Given the description of an element on the screen output the (x, y) to click on. 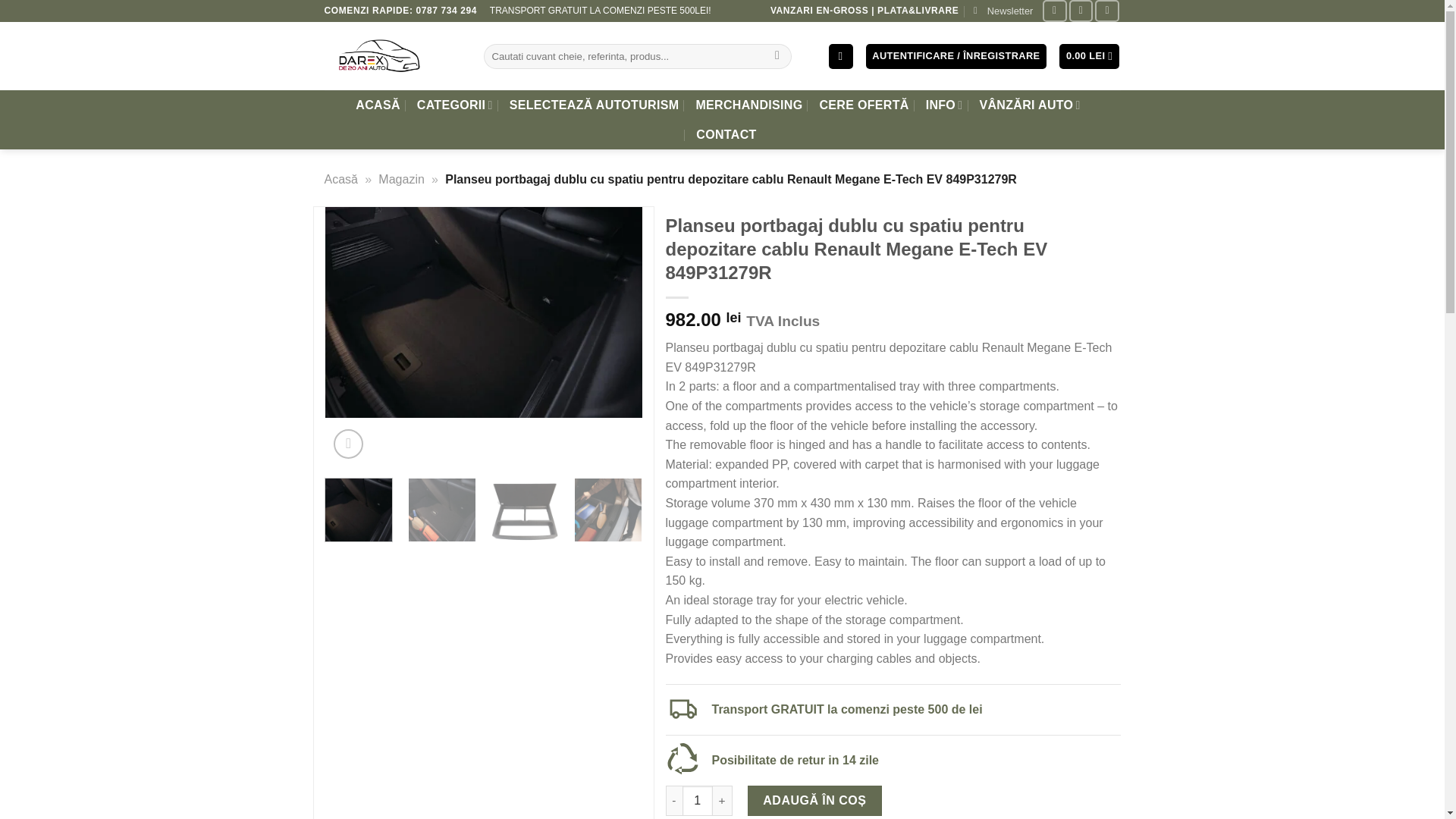
Follow on Instagram (1080, 11)
Zoom (347, 443)
recycle (682, 757)
Aboneaza-te la newsletter (1003, 11)
0.00 LEI (1089, 56)
Follow on Facebook (1054, 11)
1 (697, 800)
Send us an email (1106, 11)
Newsletter (1003, 11)
CATEGORII (454, 104)
